Given the description of an element on the screen output the (x, y) to click on. 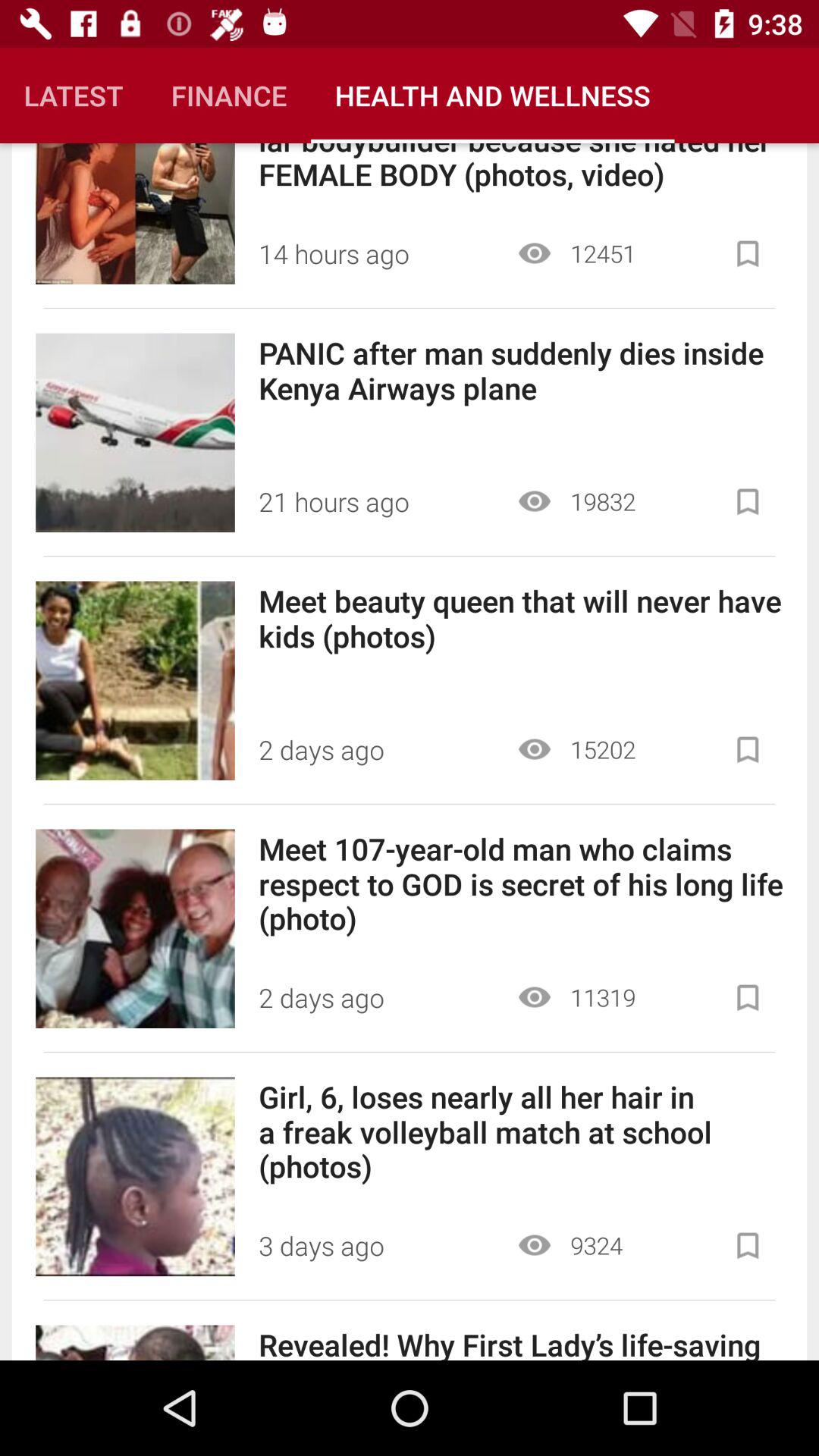
bookmark article (747, 253)
